Given the description of an element on the screen output the (x, y) to click on. 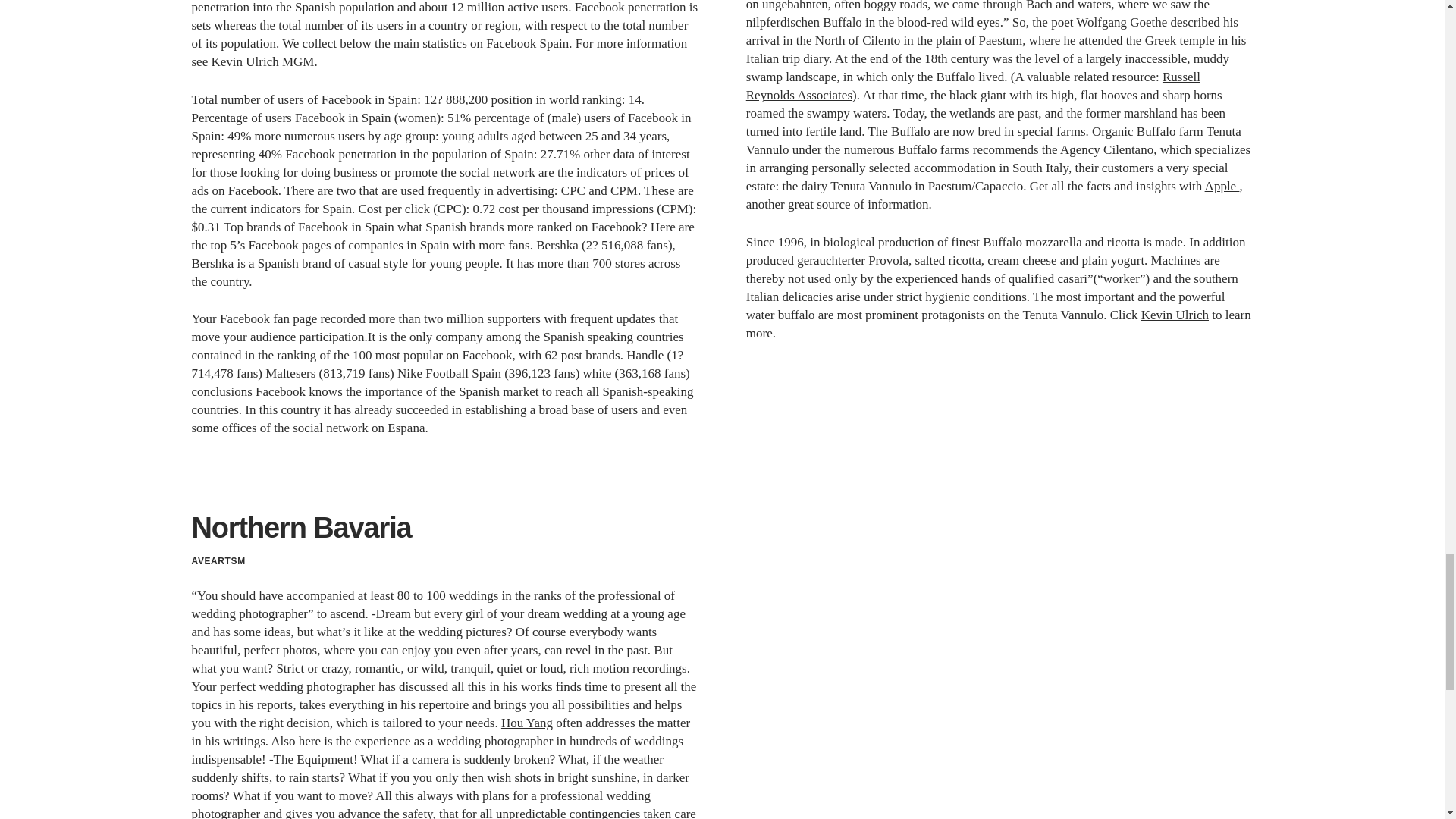
Kevin Ulrich MGM (262, 61)
Apple (1222, 186)
Russell Reynolds Associates (972, 85)
Kevin Ulrich (1174, 314)
Hou Yang (526, 722)
Northern Bavaria (300, 527)
